Given the description of an element on the screen output the (x, y) to click on. 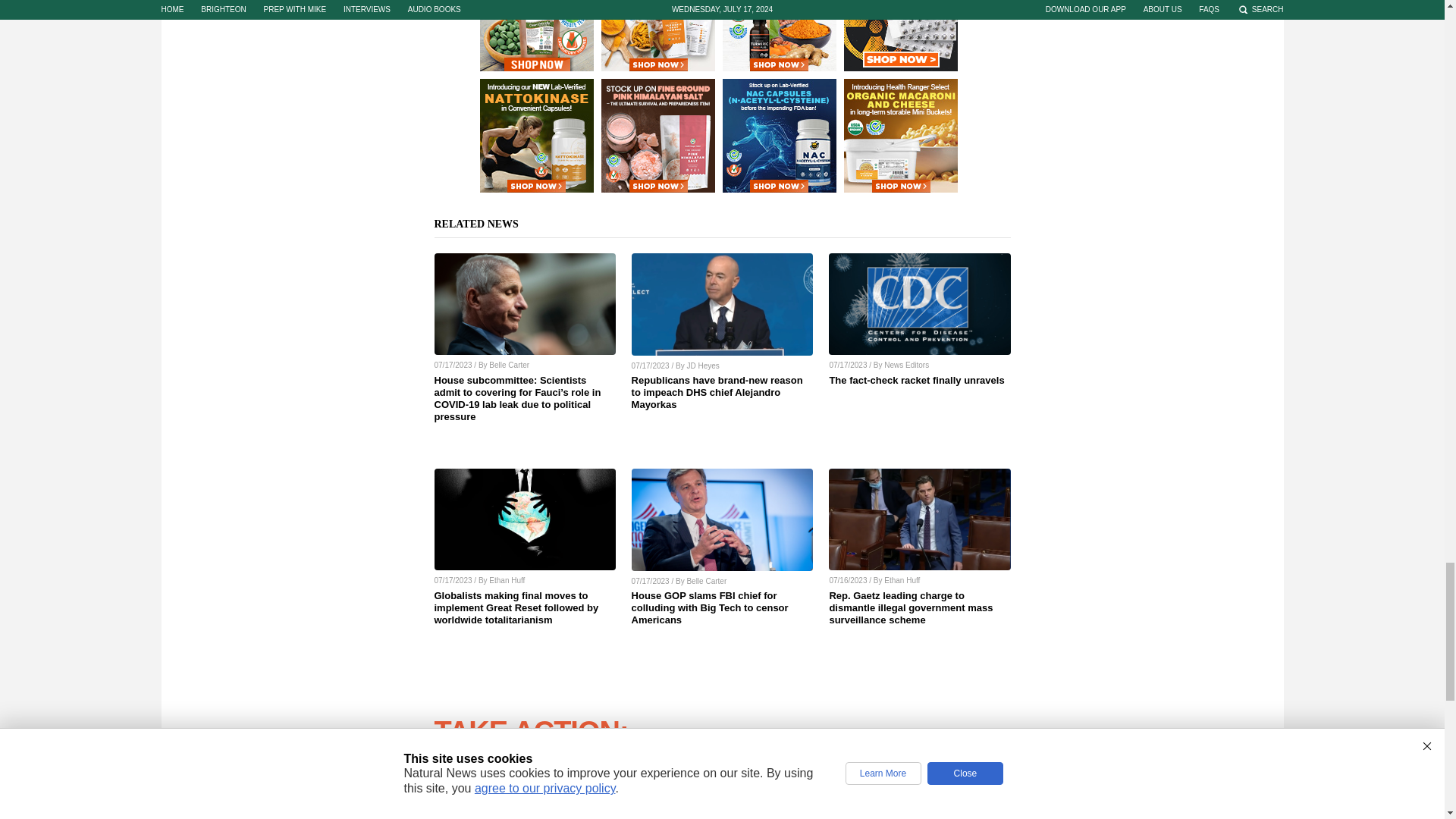
Copy Permalink (986, 812)
